Given the description of an element on the screen output the (x, y) to click on. 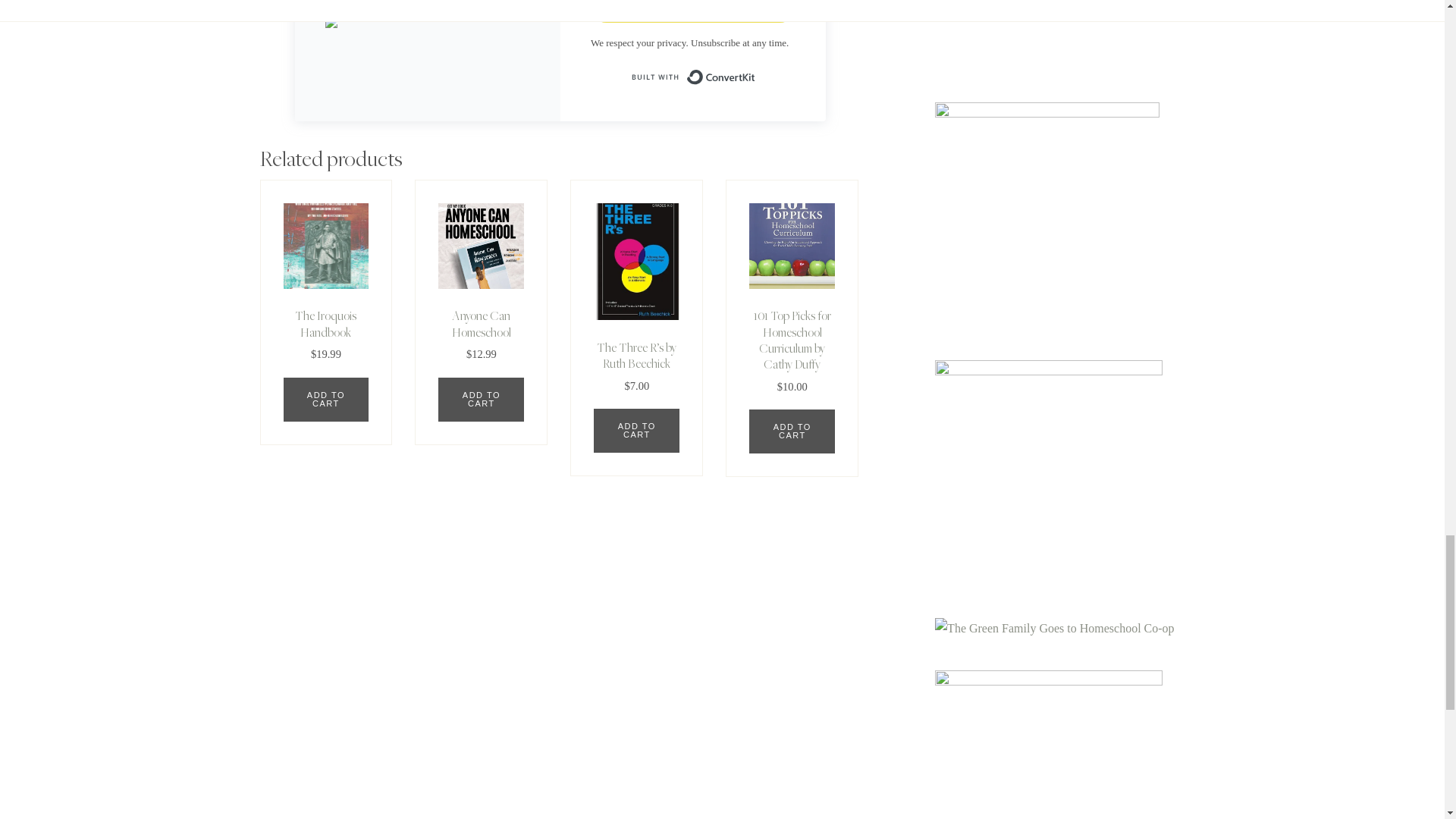
SUBSCRIBE (692, 11)
